Given the description of an element on the screen output the (x, y) to click on. 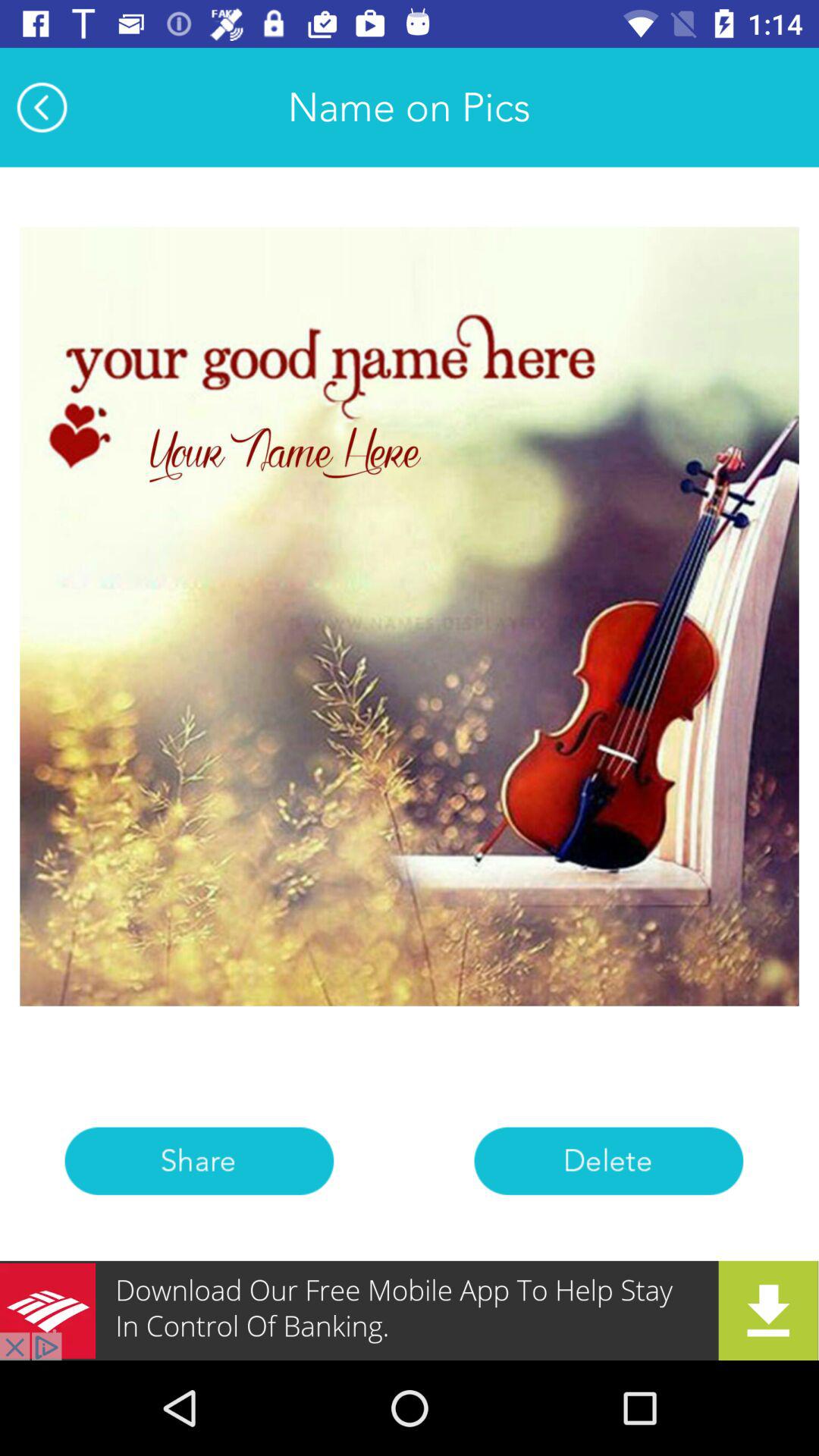
delete the page (608, 1160)
